Given the description of an element on the screen output the (x, y) to click on. 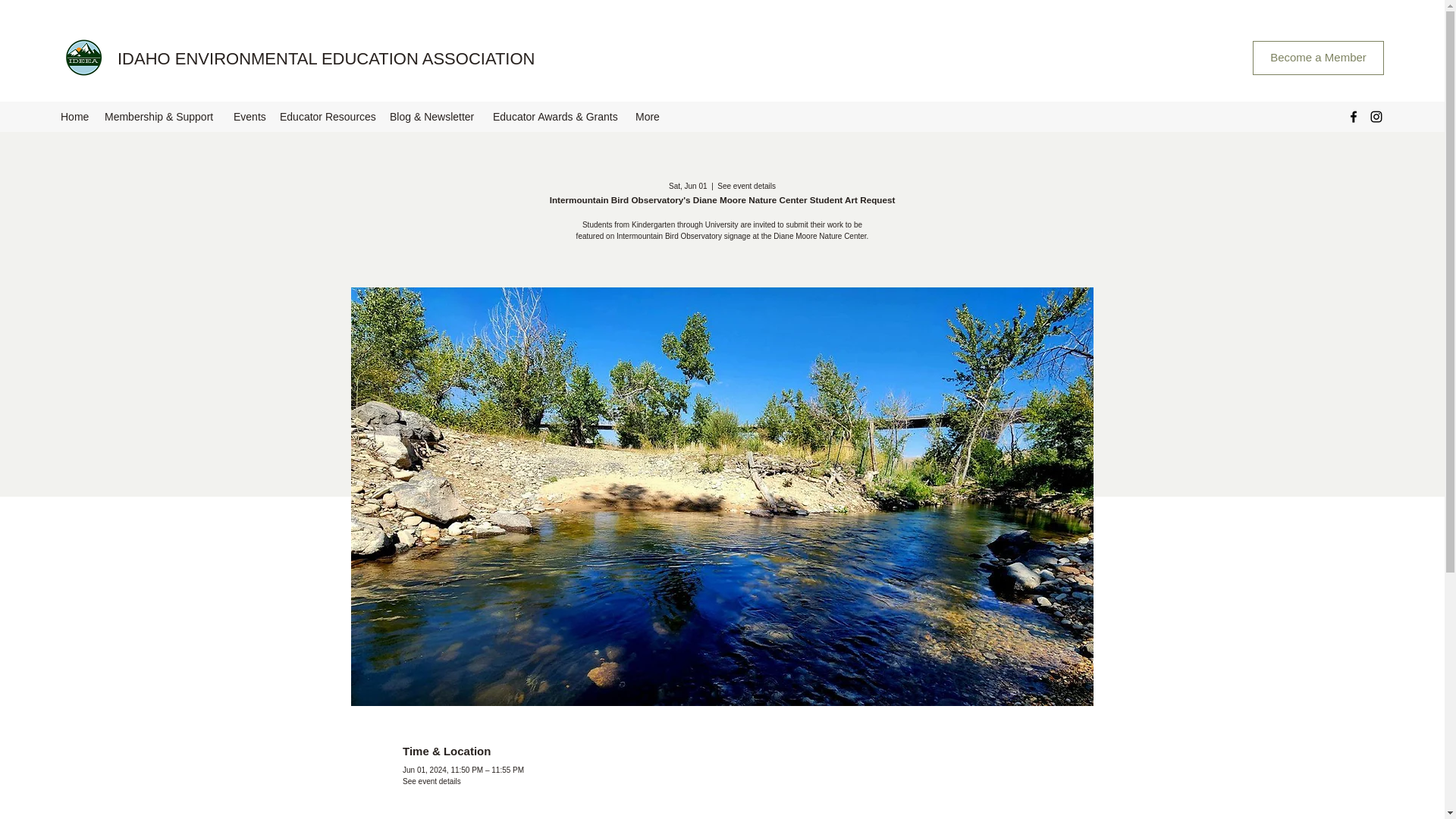
Educator Resources (326, 116)
Become a Member (1318, 57)
IDAHO ENVIRONMENTAL EDUCATION ASSOCIATION (325, 58)
Events (248, 116)
Home (74, 116)
